Given the description of an element on the screen output the (x, y) to click on. 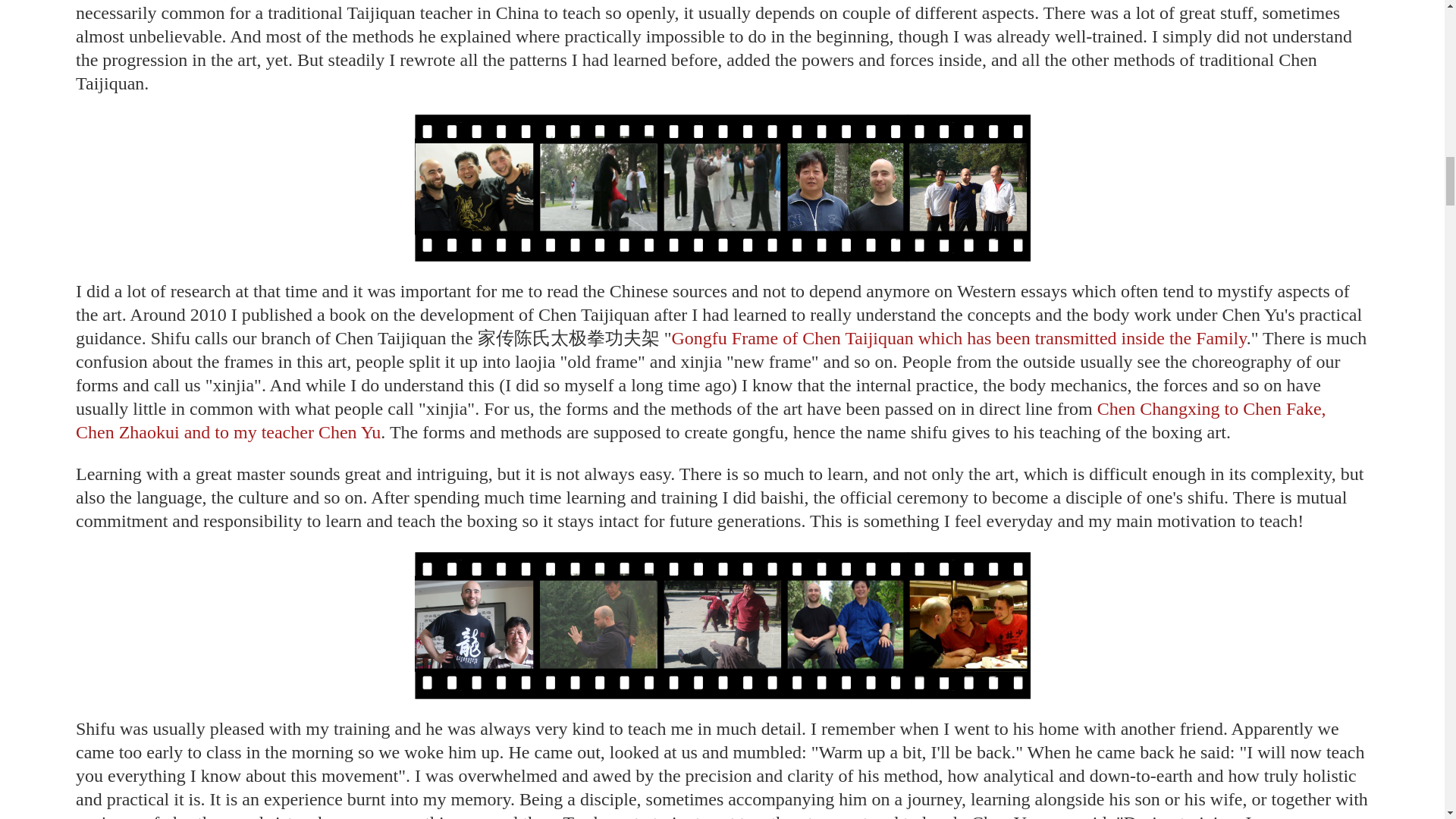
Chen Changxing, Chen Fake, Chen Zhaokui, Chen Yu (700, 420)
Lineage of the gongfu frame of Chen Taijiquan (958, 338)
